Given the description of an element on the screen output the (x, y) to click on. 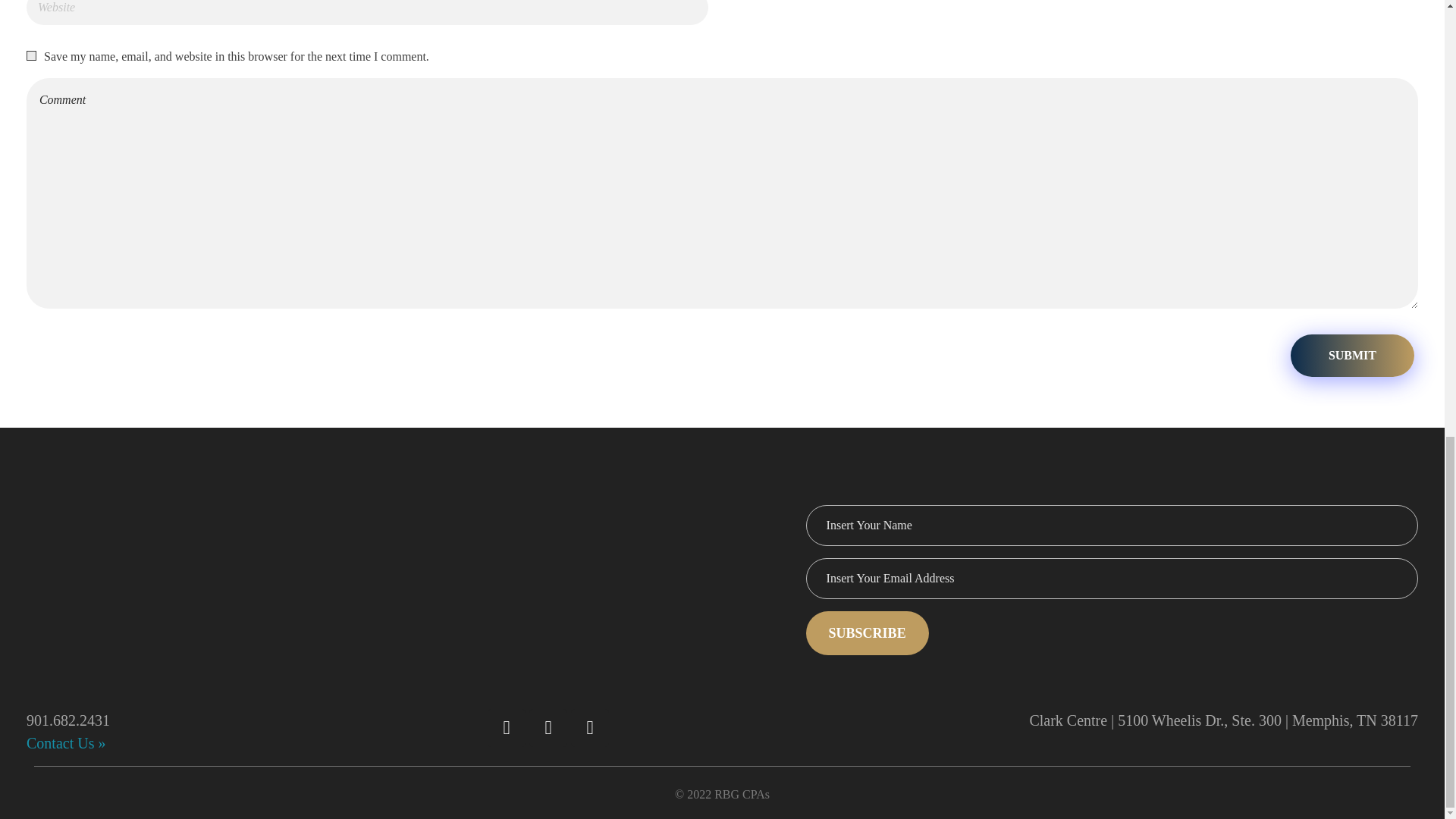
Submit (1351, 355)
Insert Your Name (1112, 525)
Submit (1351, 355)
yes (31, 55)
Subscribe (867, 632)
Insert Your Email Address (1112, 577)
Subscribe (867, 632)
